Given the description of an element on the screen output the (x, y) to click on. 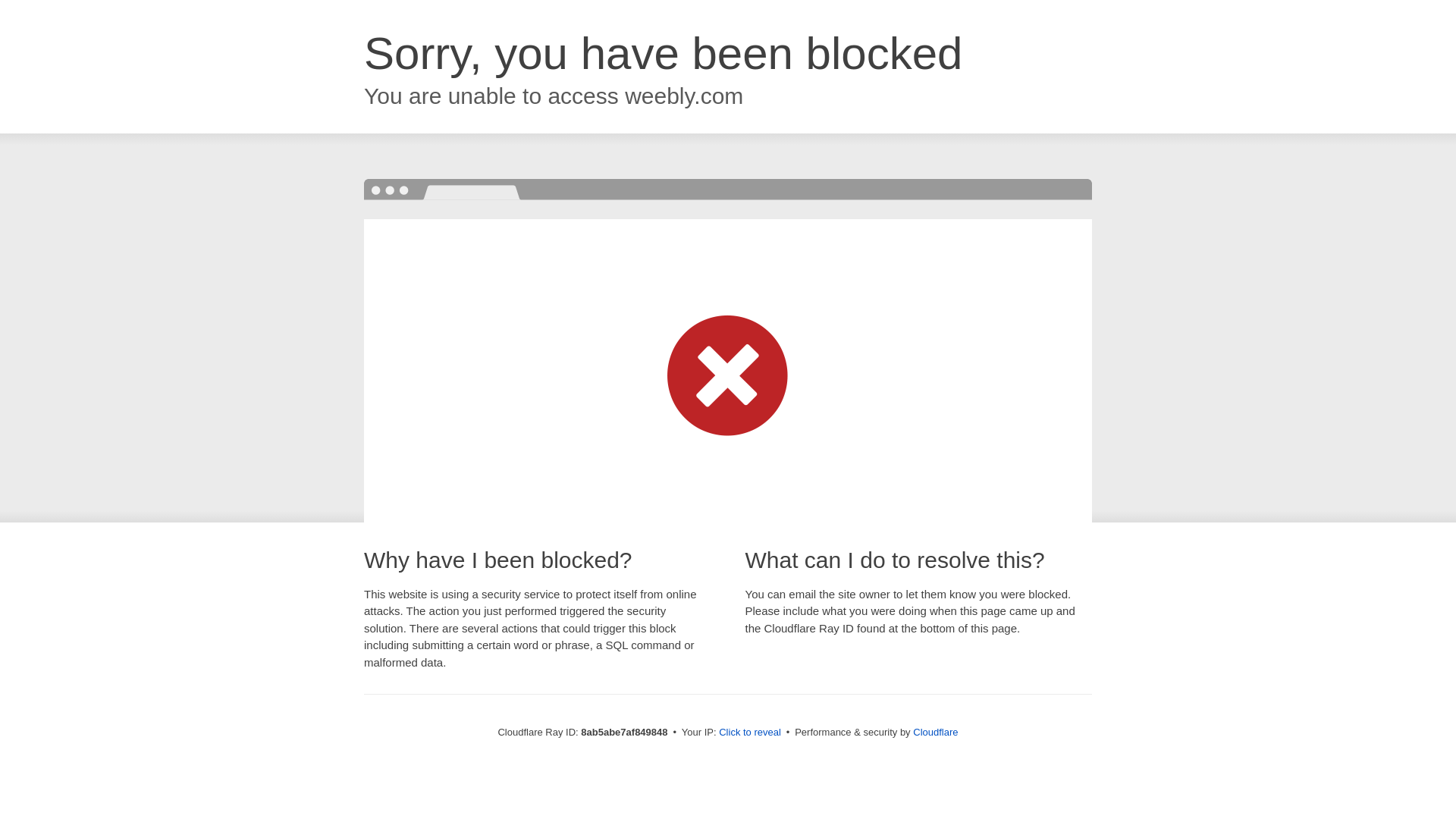
Click to reveal (749, 732)
Cloudflare (935, 731)
